Given the description of an element on the screen output the (x, y) to click on. 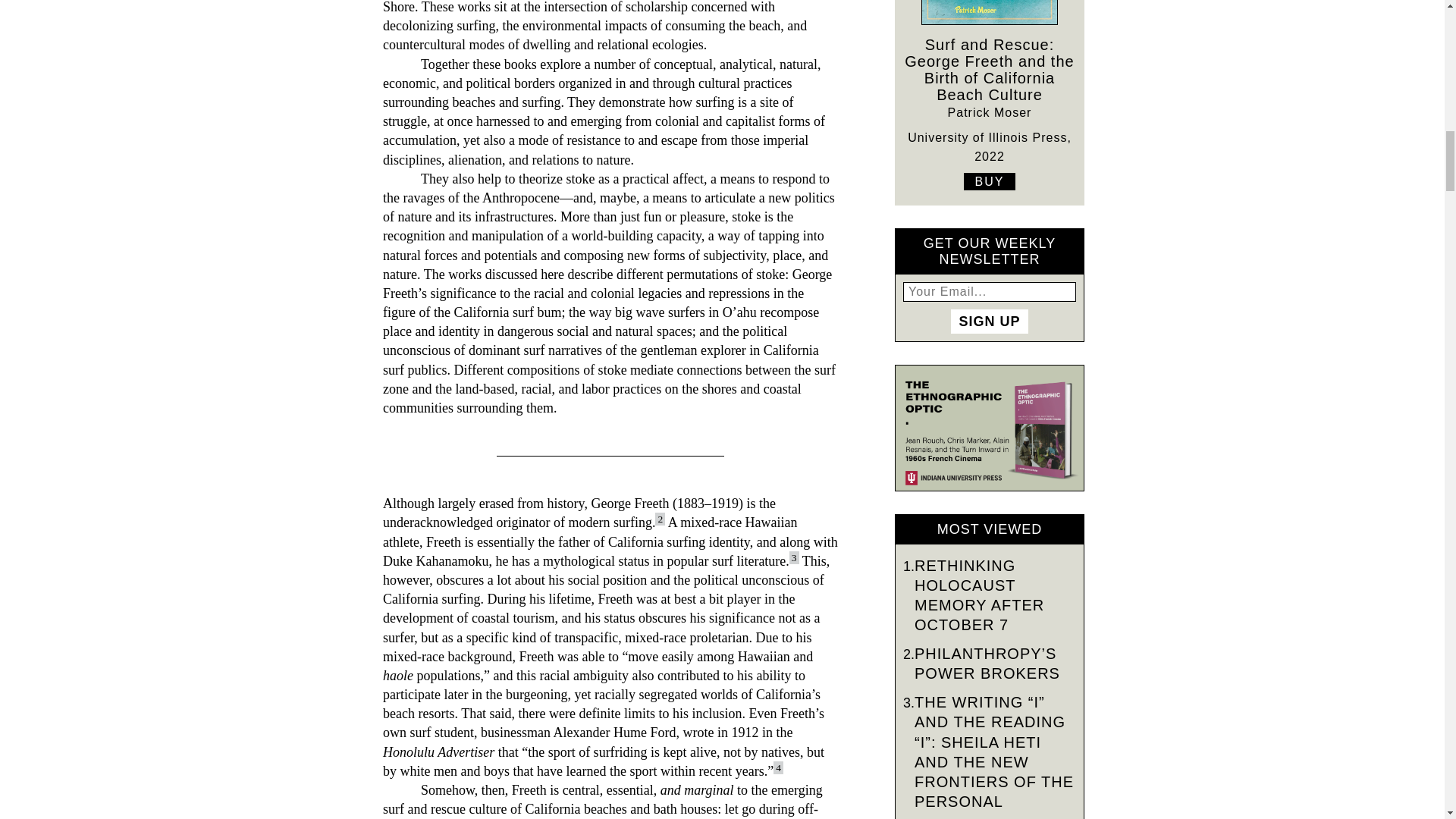
Sign Up (988, 321)
